Given the description of an element on the screen output the (x, y) to click on. 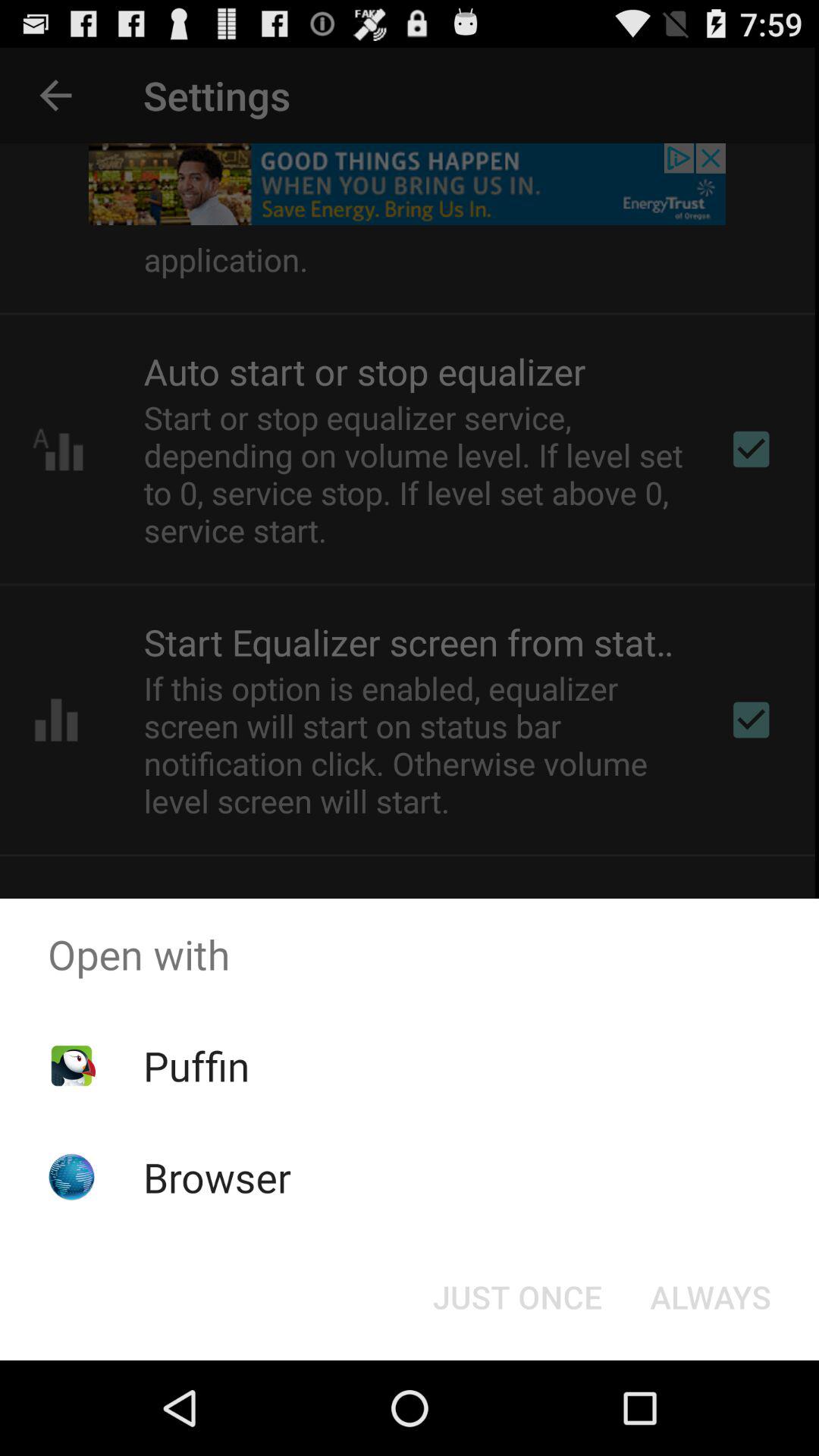
turn on button next to the just once icon (710, 1296)
